Given the description of an element on the screen output the (x, y) to click on. 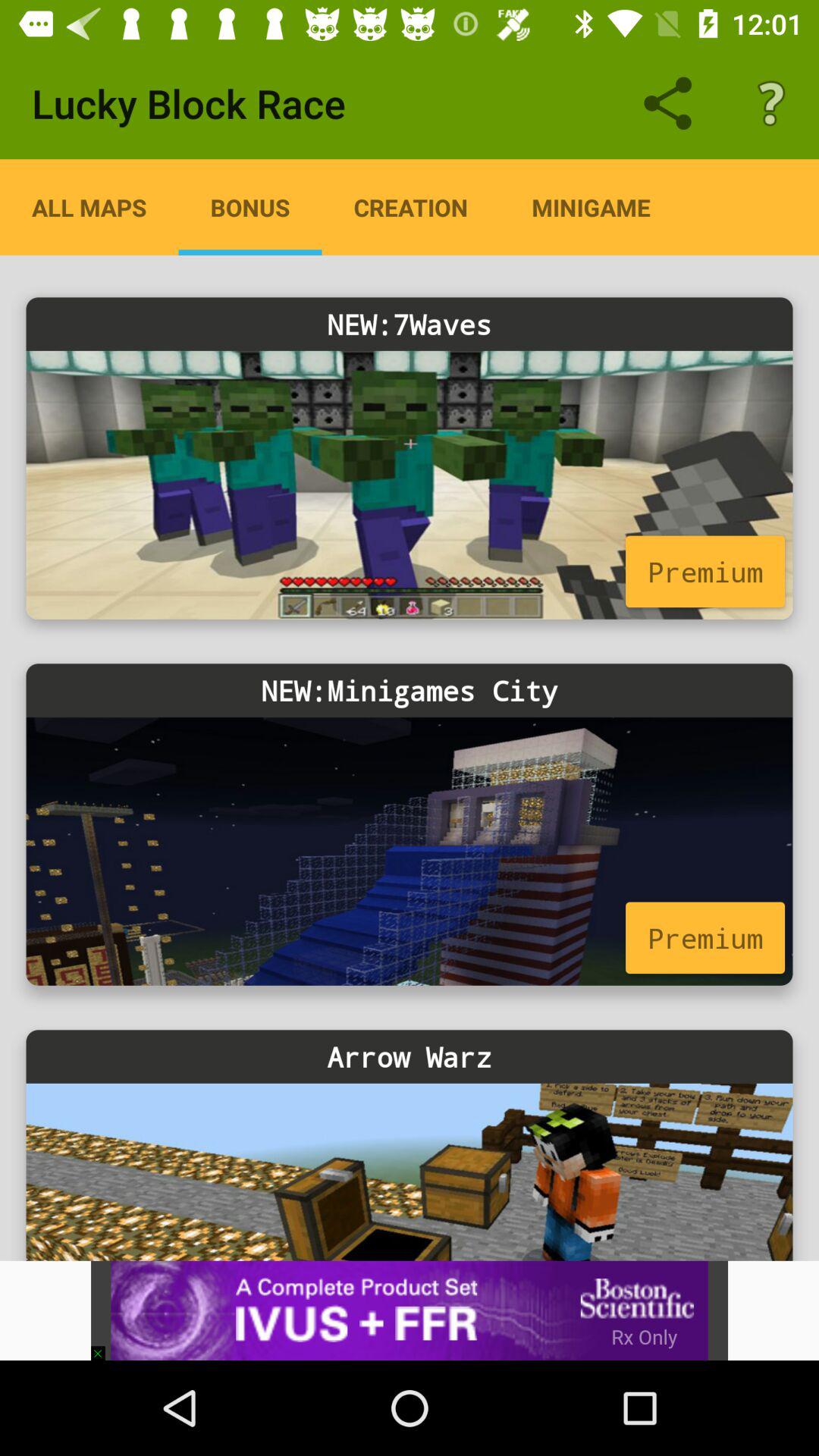
choose the icon to the right of the creation (590, 207)
